Given the description of an element on the screen output the (x, y) to click on. 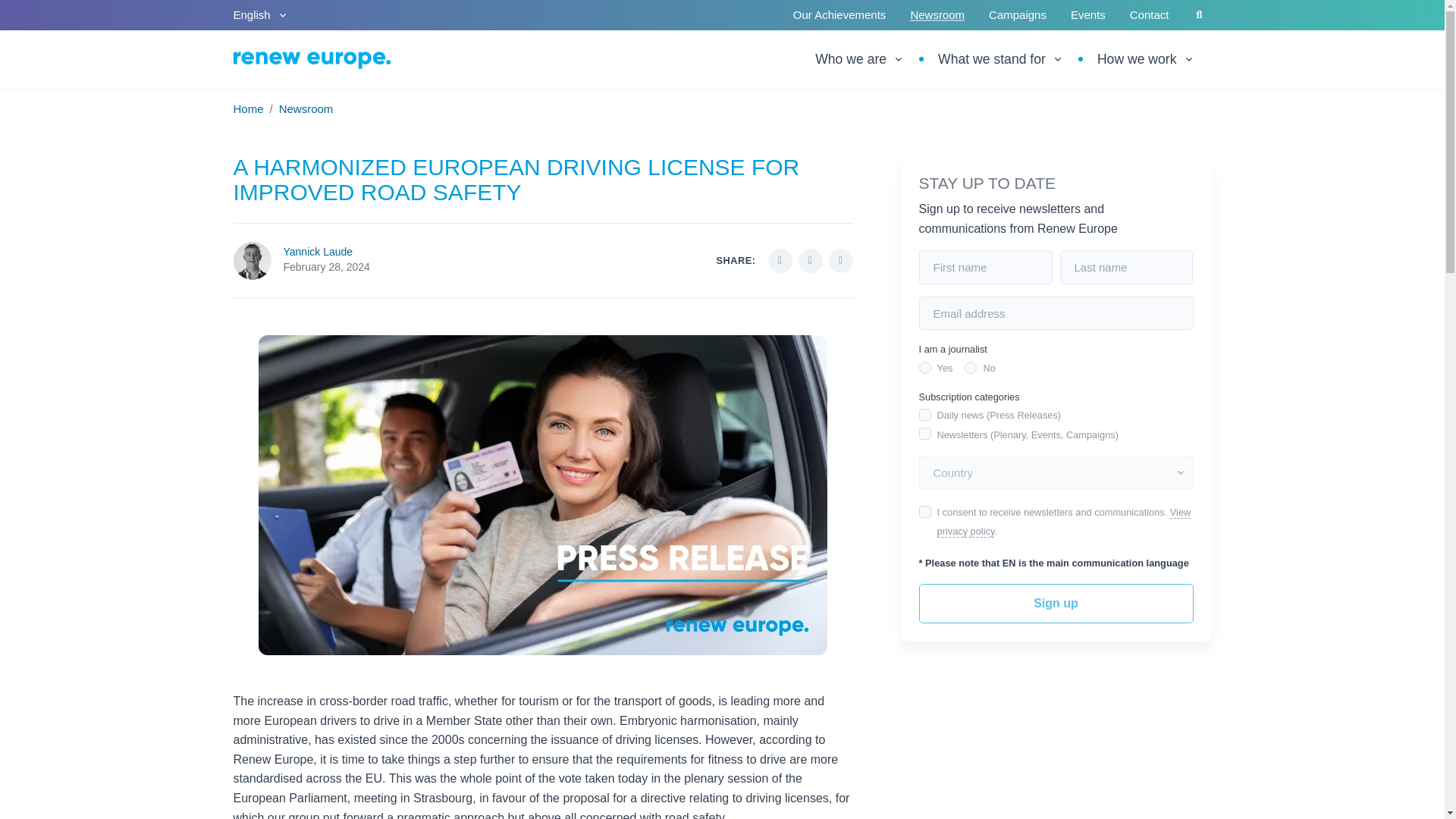
How we work (1145, 58)
Who we are (868, 58)
Newsroom (937, 14)
Our Achievements (839, 14)
Contact (1149, 14)
Newsroom (306, 108)
Events (1088, 14)
Home (247, 108)
Yannick Laude (318, 251)
Search (1199, 15)
English (260, 14)
What we stand for (1000, 58)
Campaigns (1017, 14)
